Given the description of an element on the screen output the (x, y) to click on. 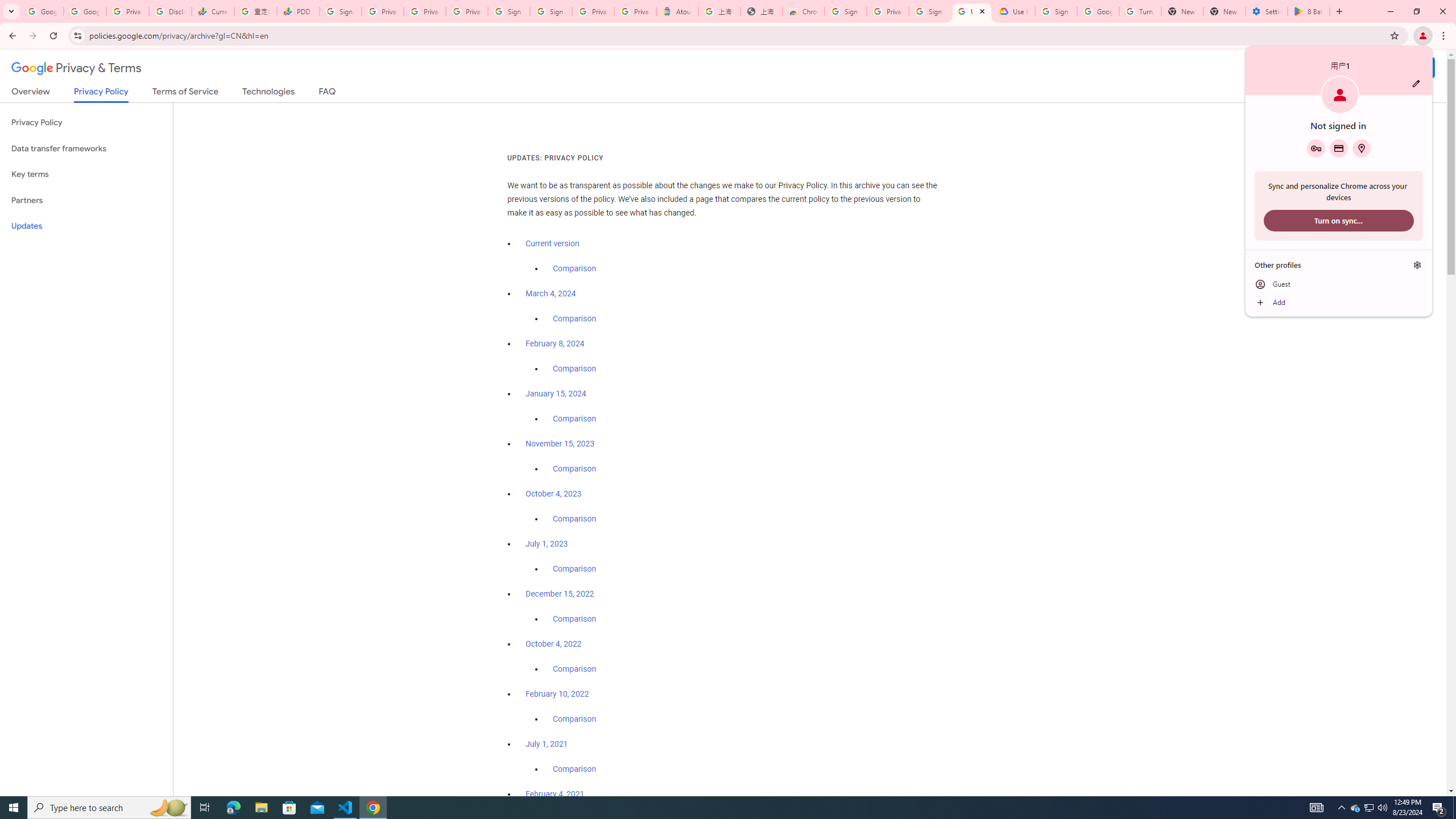
February 8, 2024 (555, 343)
AutomationID: 4105 (1316, 807)
Visual Studio Code - 1 running window (345, 807)
Technologies (268, 93)
Start (13, 807)
February 10, 2022 (557, 693)
Turn cookies on or off - Computer - Google Account Help (1139, 11)
March 4, 2024 (550, 293)
File Explorer (261, 807)
PDD Holdings Inc - ADR (PDD) Price & News - Google Finance (298, 11)
